Given the description of an element on the screen output the (x, y) to click on. 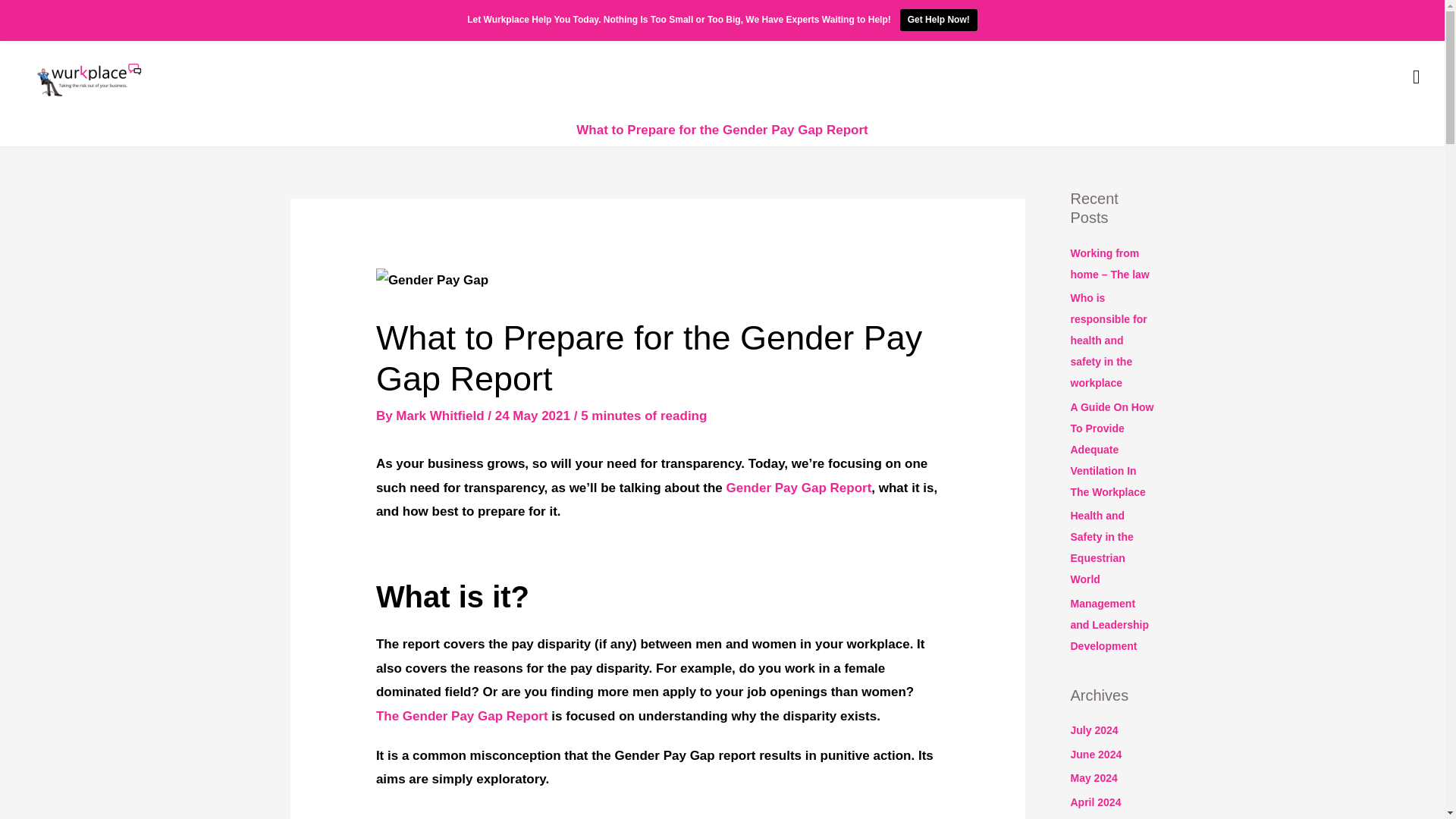
View all posts by Mark Whitfield (441, 415)
